Given the description of an element on the screen output the (x, y) to click on. 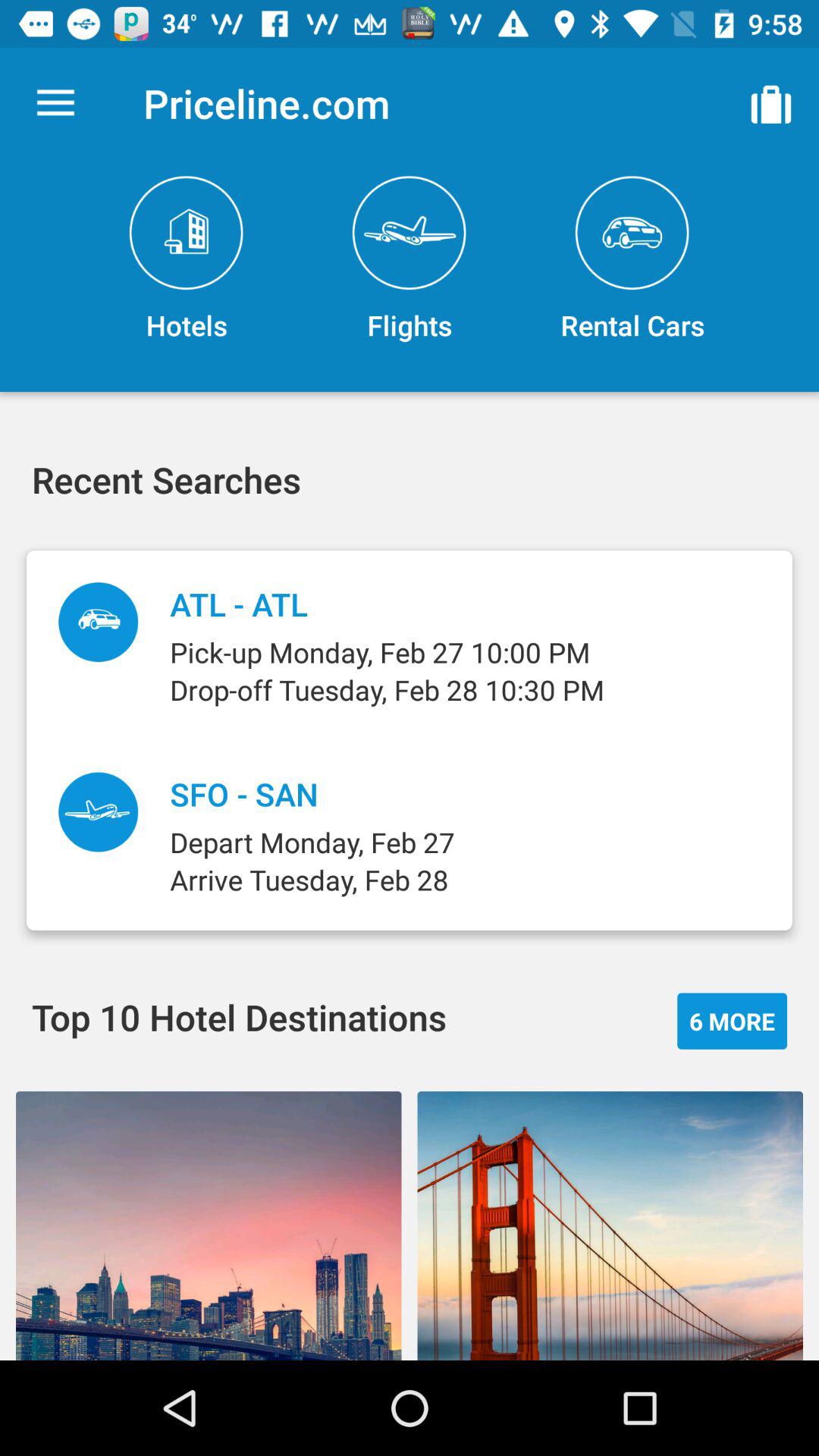
scroll to hotels item (186, 259)
